Given the description of an element on the screen output the (x, y) to click on. 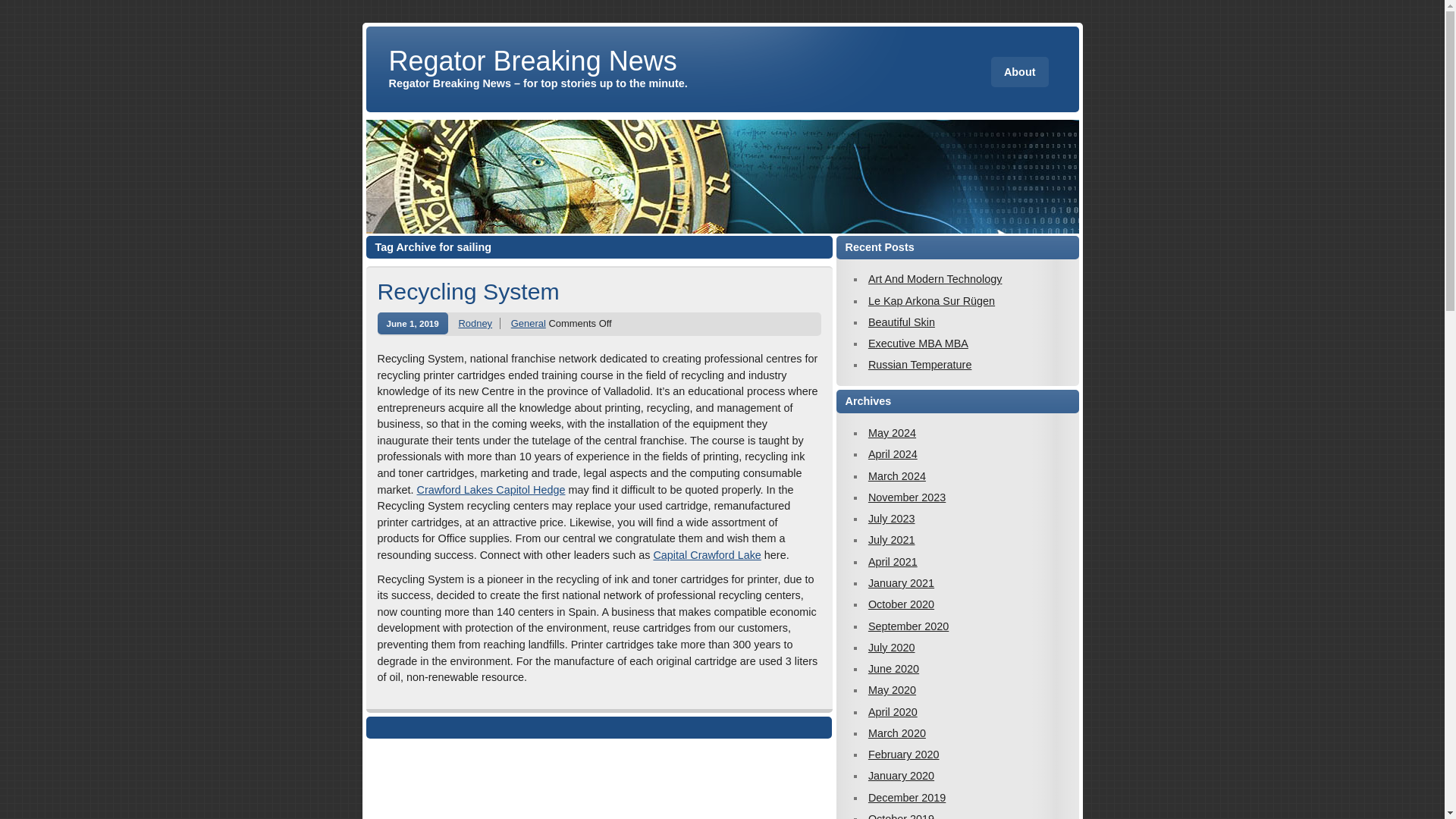
January 2021 (900, 582)
Rodney (475, 323)
June 2020 (892, 668)
About (1019, 71)
Executive MBA MBA (917, 343)
Russian Temperature (919, 364)
May 2020 (891, 689)
Art And Modern Technology (935, 278)
Crawford Lakes Capitol Hedge (490, 490)
December 2019 (905, 797)
May 2024 (891, 432)
Regator Breaking News (537, 60)
October 2019 (900, 816)
April 2021 (892, 562)
July 2023 (891, 518)
